Given the description of an element on the screen output the (x, y) to click on. 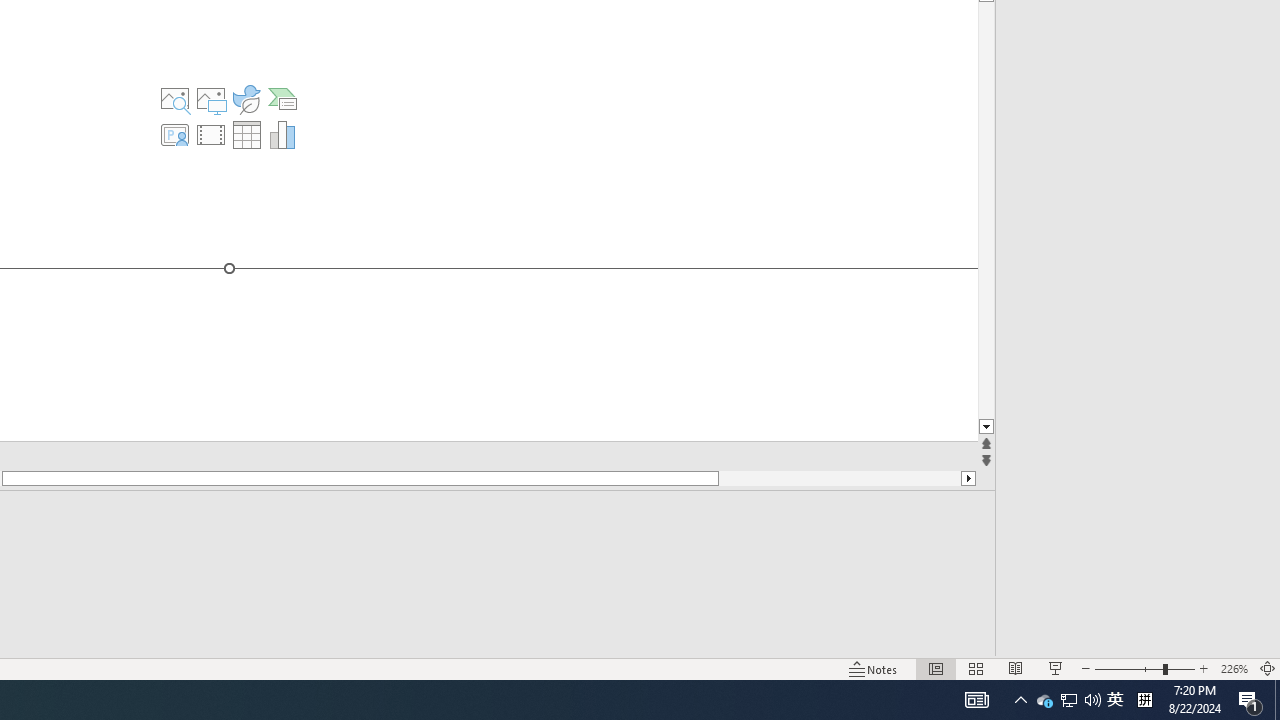
Zoom 226% (1234, 668)
